Given the description of an element on the screen output the (x, y) to click on. 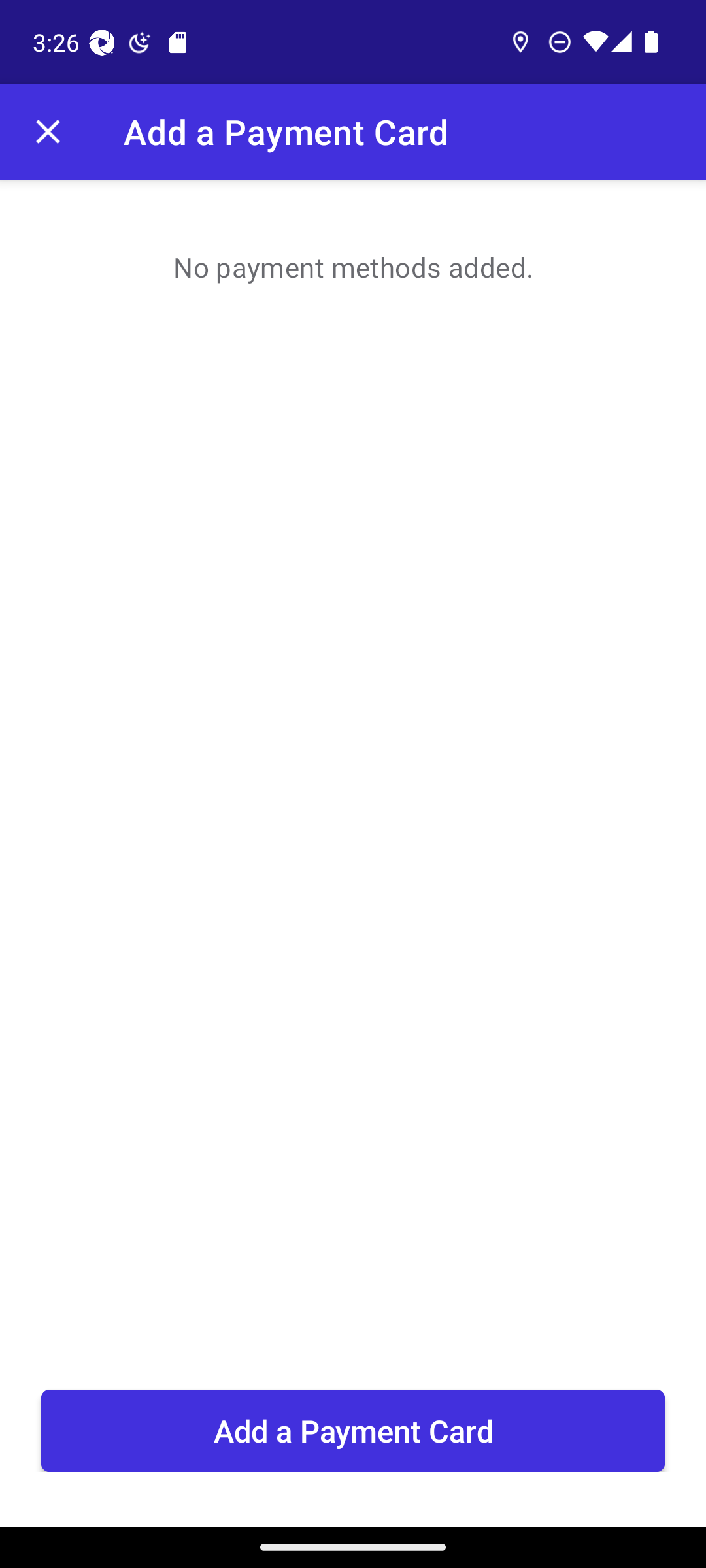
Navigate up (48, 131)
Add a Payment Card (352, 1430)
